Given the description of an element on the screen output the (x, y) to click on. 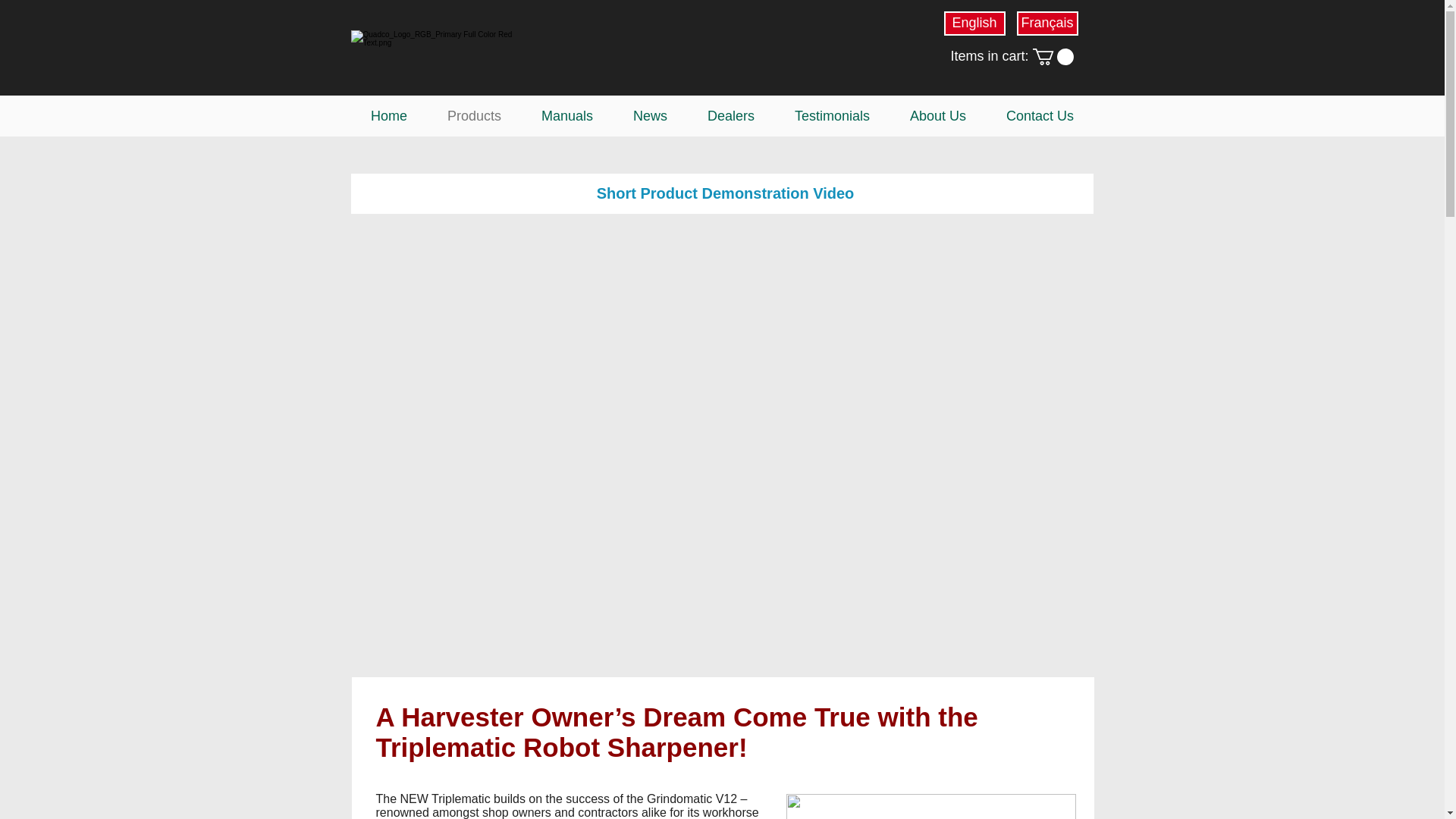
News (649, 115)
Manuals (566, 115)
English (973, 23)
Home (388, 115)
Contact Us (1039, 115)
Dealers (730, 115)
About Us (938, 115)
Products (474, 115)
Testimonials (831, 115)
